Given the description of an element on the screen output the (x, y) to click on. 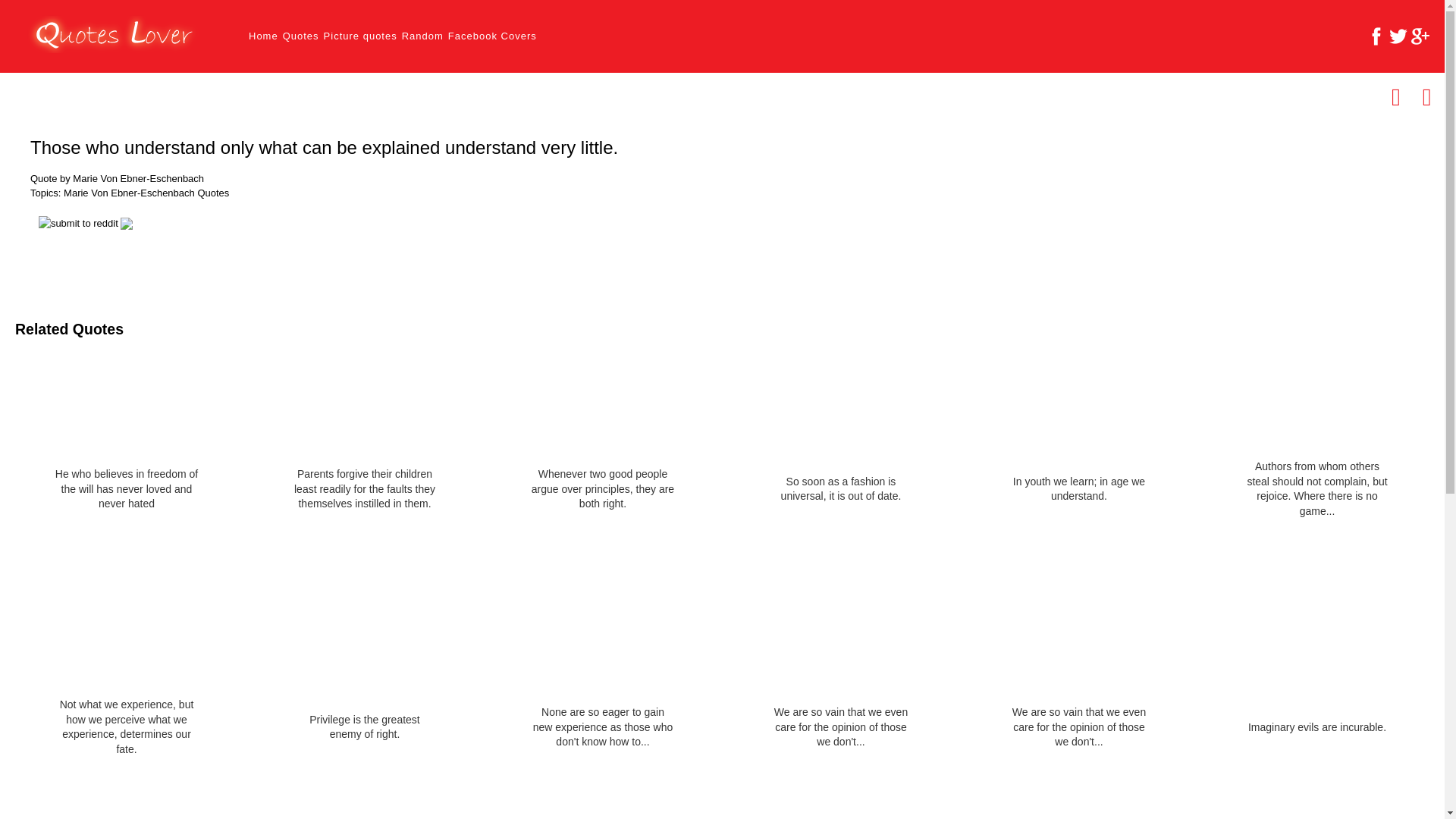
Quote by Marie Von Ebner-Eschenbach (116, 178)
Previous (1395, 97)
Imaginary evils are incurable. (1317, 727)
Twitter (1398, 36)
So soon as a fashion is universal, it is out of date. (841, 489)
Privilege is the greatest enemy of right. (364, 727)
